Given the description of an element on the screen output the (x, y) to click on. 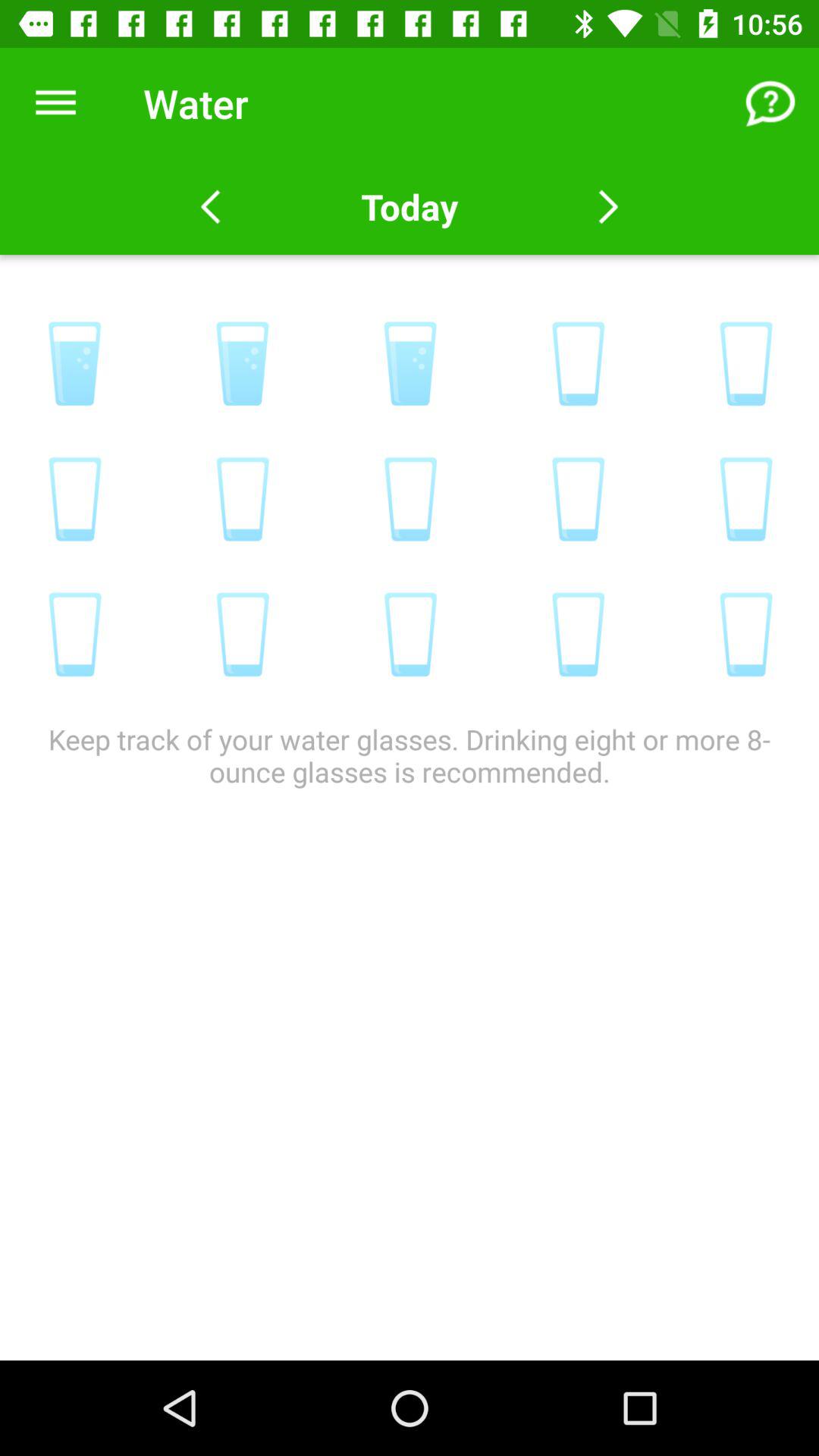
go next (608, 206)
